Given the description of an element on the screen output the (x, y) to click on. 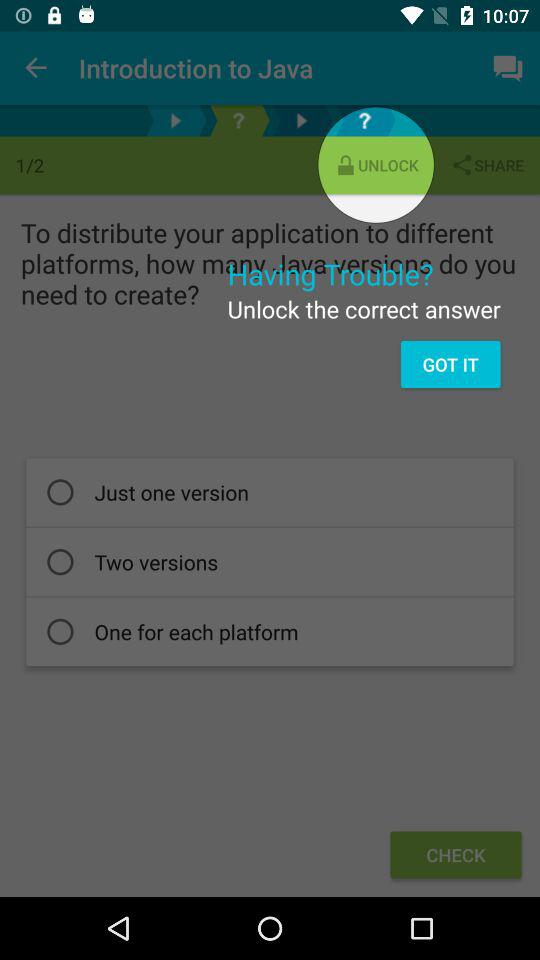
start the previous lesson (175, 120)
